Given the description of an element on the screen output the (x, y) to click on. 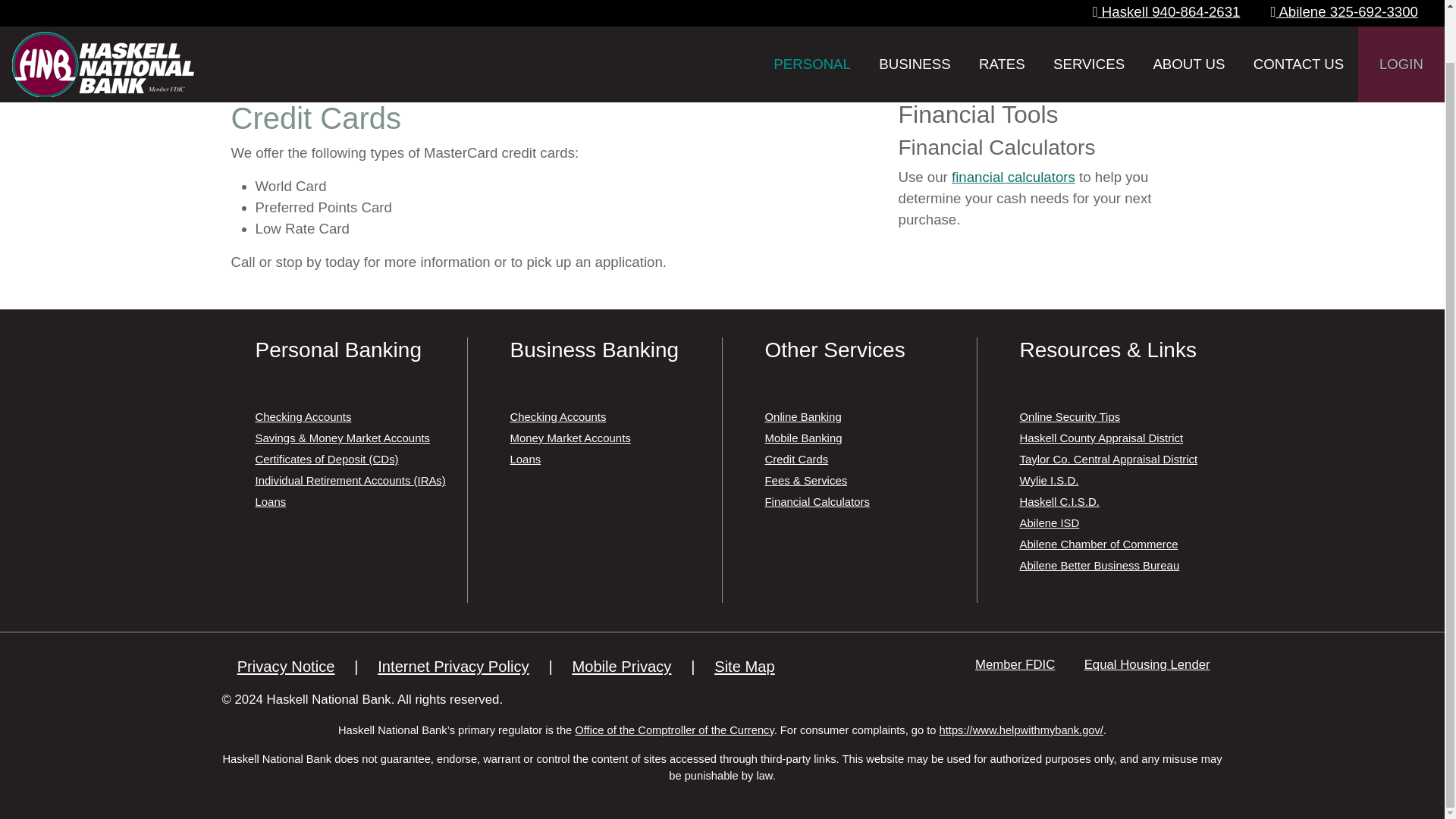
RATES (1001, 22)
Haskell National Bank (102, 20)
PERSONAL (812, 22)
financial calculators (1013, 176)
SERVICES (1088, 22)
CONTACT US (1298, 22)
ABOUT US (1188, 22)
Checking Accounts (302, 416)
BUSINESS (914, 22)
